Given the description of an element on the screen output the (x, y) to click on. 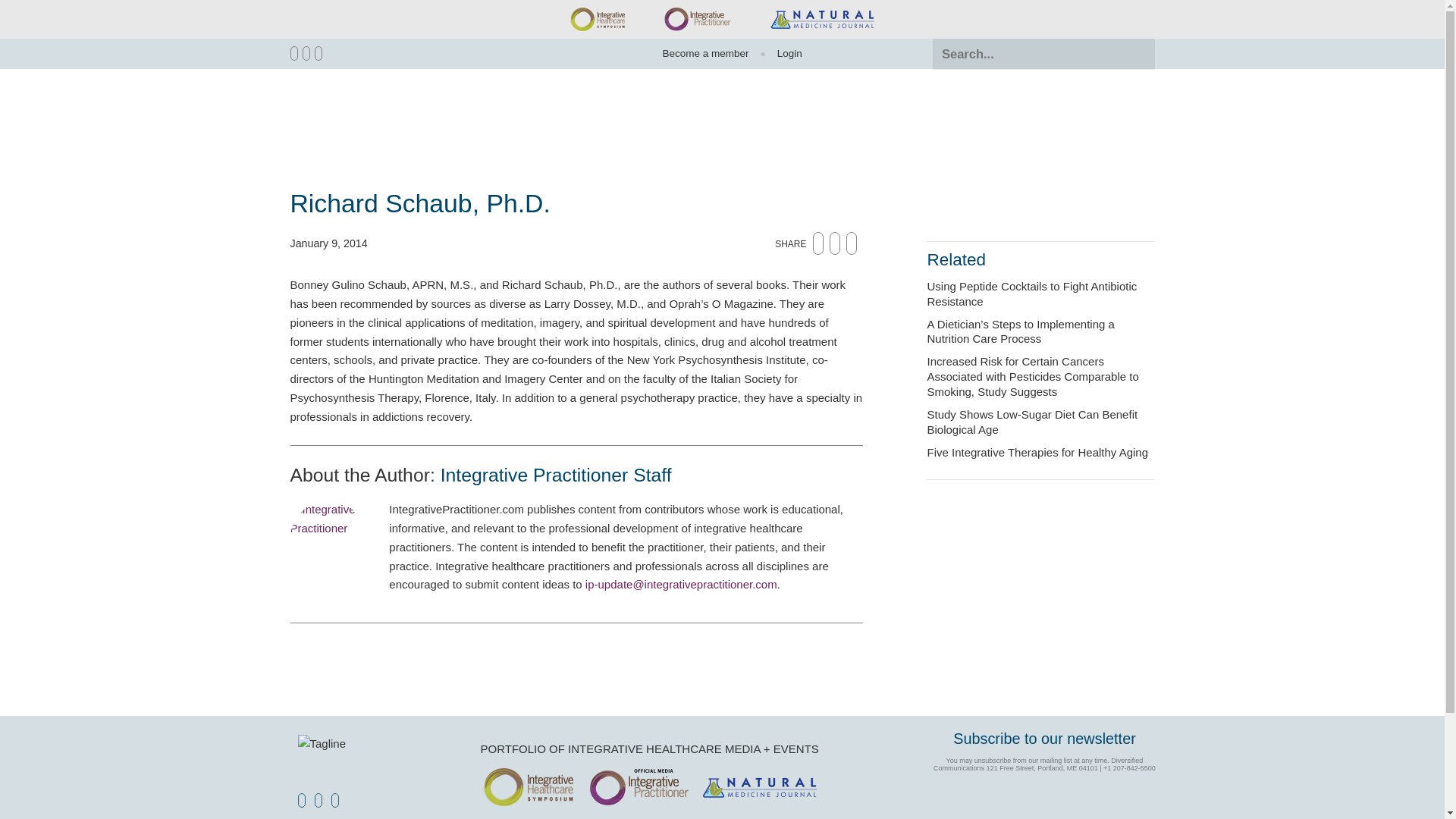
Login (783, 52)
Become a member (705, 52)
